Given the description of an element on the screen output the (x, y) to click on. 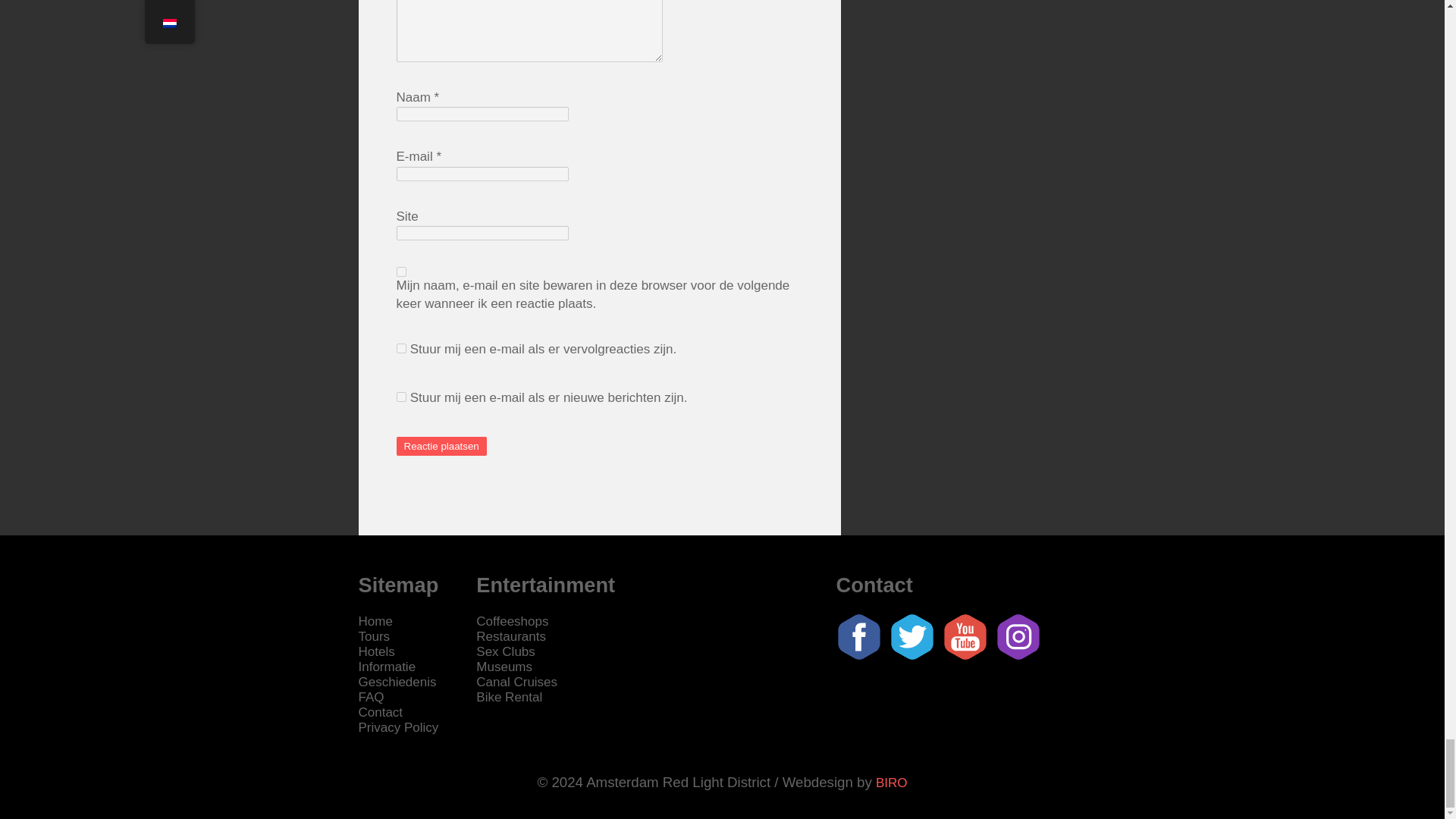
subscribe (401, 397)
Reactie plaatsen (441, 445)
subscribe (401, 347)
yes (401, 271)
